Given the description of an element on the screen output the (x, y) to click on. 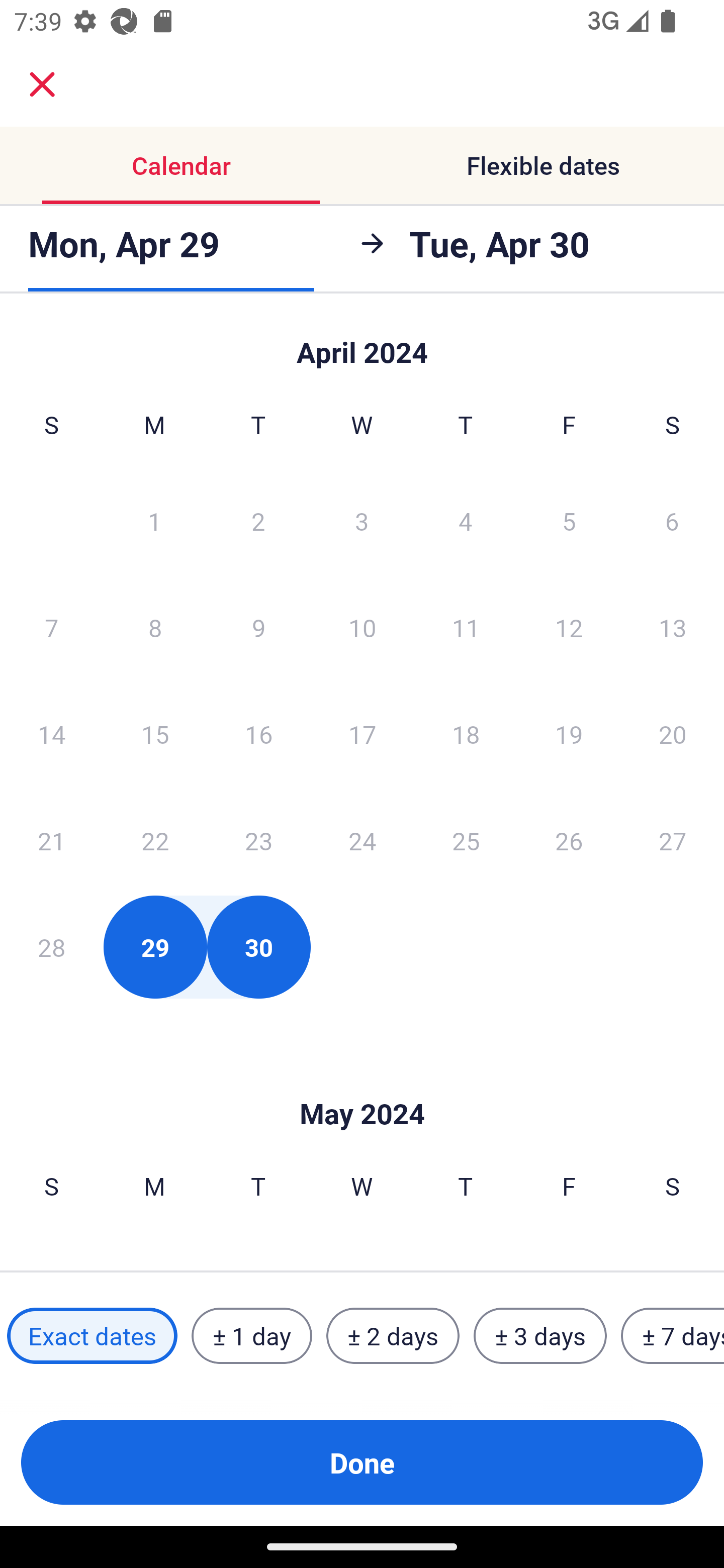
close. (42, 84)
Flexible dates (542, 164)
Skip to Done (362, 343)
1 Monday, April 1, 2024 (154, 520)
2 Tuesday, April 2, 2024 (257, 520)
3 Wednesday, April 3, 2024 (361, 520)
4 Thursday, April 4, 2024 (465, 520)
5 Friday, April 5, 2024 (568, 520)
6 Saturday, April 6, 2024 (672, 520)
7 Sunday, April 7, 2024 (51, 626)
8 Monday, April 8, 2024 (155, 626)
9 Tuesday, April 9, 2024 (258, 626)
10 Wednesday, April 10, 2024 (362, 626)
11 Thursday, April 11, 2024 (465, 626)
12 Friday, April 12, 2024 (569, 626)
13 Saturday, April 13, 2024 (672, 626)
14 Sunday, April 14, 2024 (51, 733)
15 Monday, April 15, 2024 (155, 733)
16 Tuesday, April 16, 2024 (258, 733)
17 Wednesday, April 17, 2024 (362, 733)
18 Thursday, April 18, 2024 (465, 733)
19 Friday, April 19, 2024 (569, 733)
20 Saturday, April 20, 2024 (672, 733)
21 Sunday, April 21, 2024 (51, 840)
22 Monday, April 22, 2024 (155, 840)
23 Tuesday, April 23, 2024 (258, 840)
24 Wednesday, April 24, 2024 (362, 840)
25 Thursday, April 25, 2024 (465, 840)
26 Friday, April 26, 2024 (569, 840)
27 Saturday, April 27, 2024 (672, 840)
28 Sunday, April 28, 2024 (51, 946)
Skip to Done (362, 1083)
Exact dates (92, 1335)
± 1 day (251, 1335)
± 2 days (392, 1335)
± 3 days (539, 1335)
± 7 days (672, 1335)
Done (361, 1462)
